Given the description of an element on the screen output the (x, y) to click on. 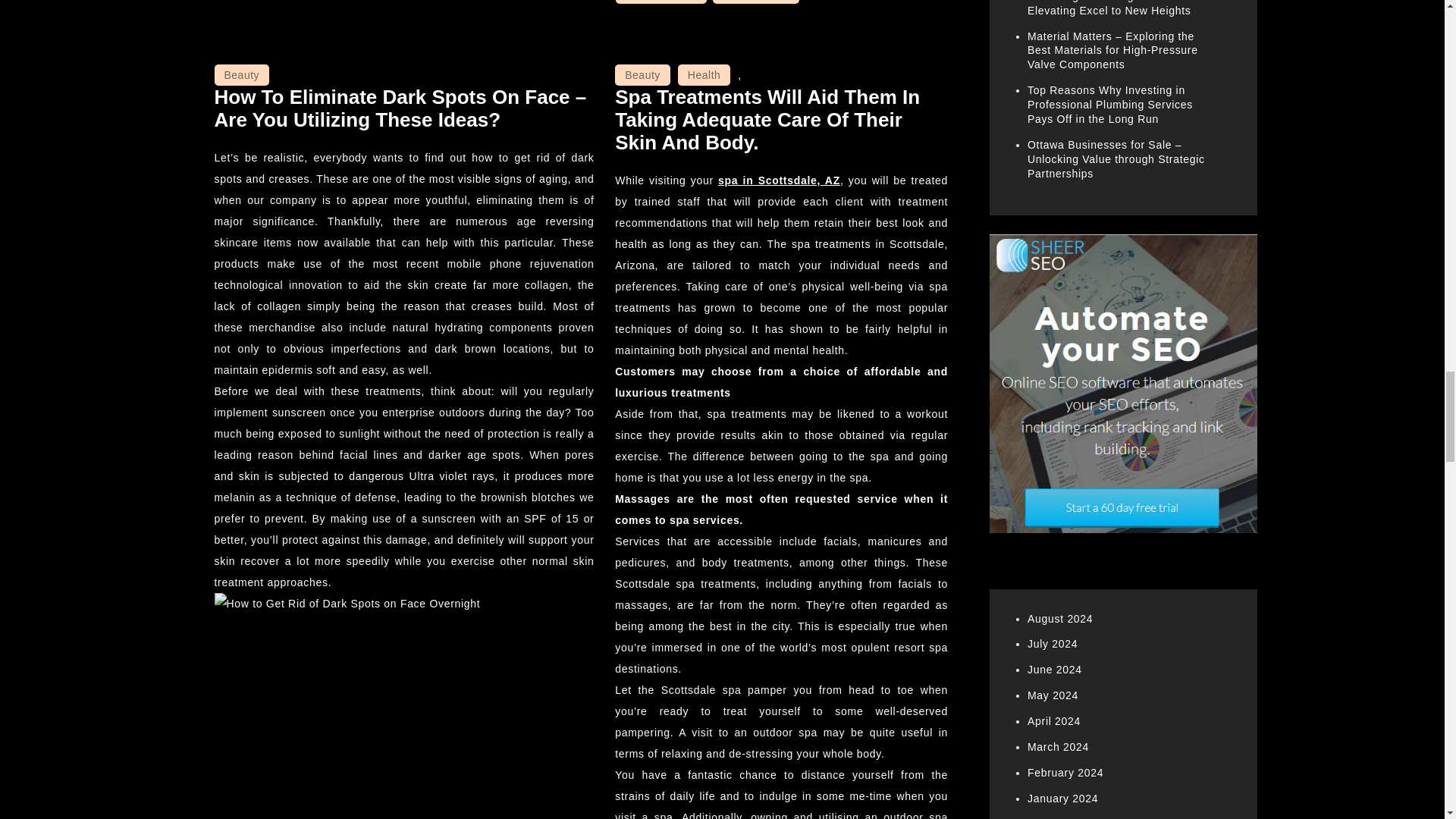
Beauty (641, 74)
Health (704, 74)
April 3, 2023 (756, 2)
spa in Scottsdale, AZ (778, 180)
Victor Omega (660, 2)
Beauty (241, 74)
